Given the description of an element on the screen output the (x, y) to click on. 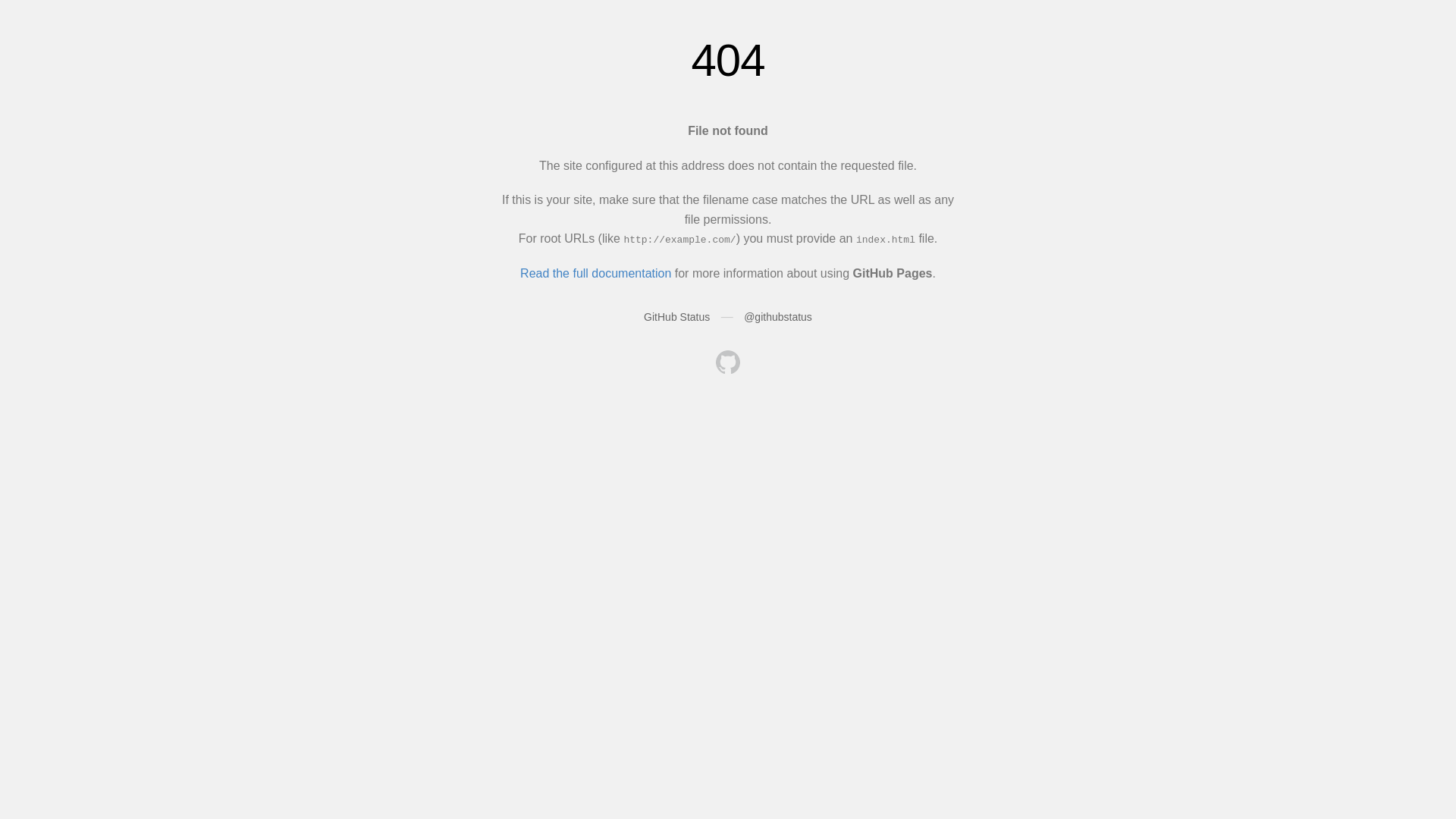
Read the full documentation Element type: text (595, 272)
@githubstatus Element type: text (777, 316)
GitHub Status Element type: text (676, 316)
